Given the description of an element on the screen output the (x, y) to click on. 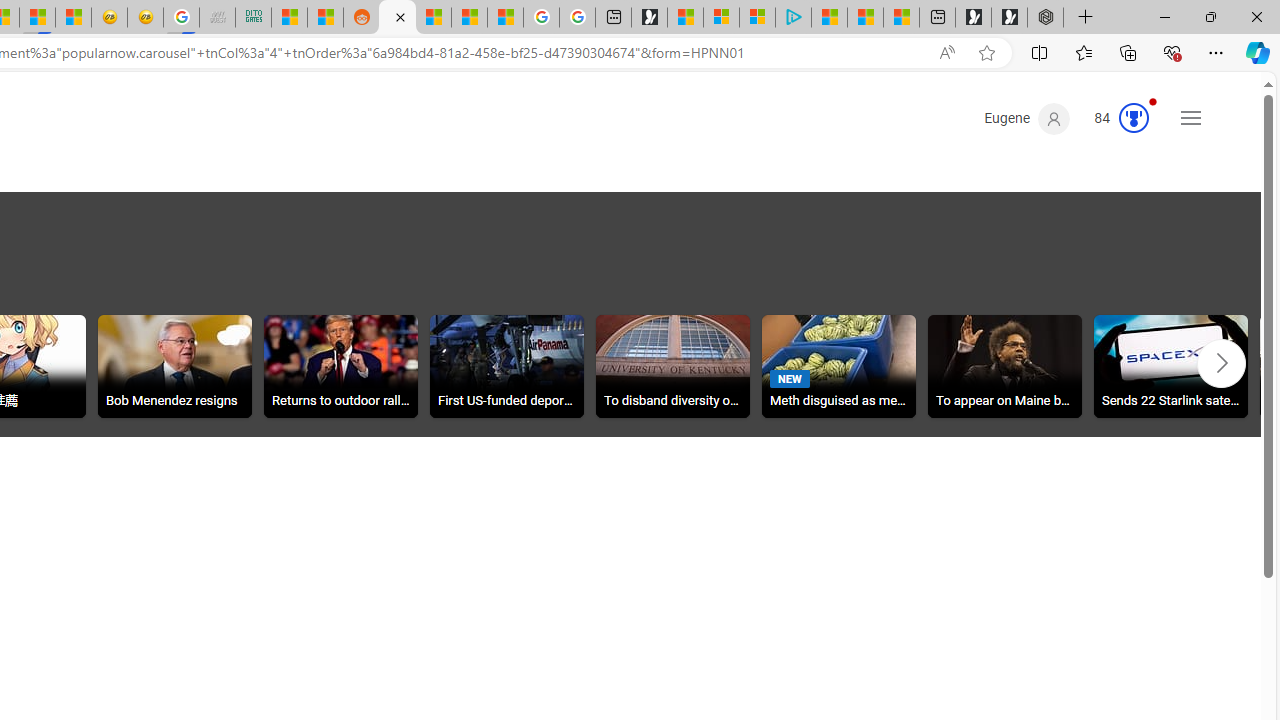
To appear on Maine ballot (1004, 365)
AutomationID: rh_meter (1133, 117)
Returns to outdoor rallying (340, 365)
Bob Menendez resigns (175, 369)
Sends 22 Starlink satellites (1171, 369)
Eugene (1027, 119)
